Given the description of an element on the screen output the (x, y) to click on. 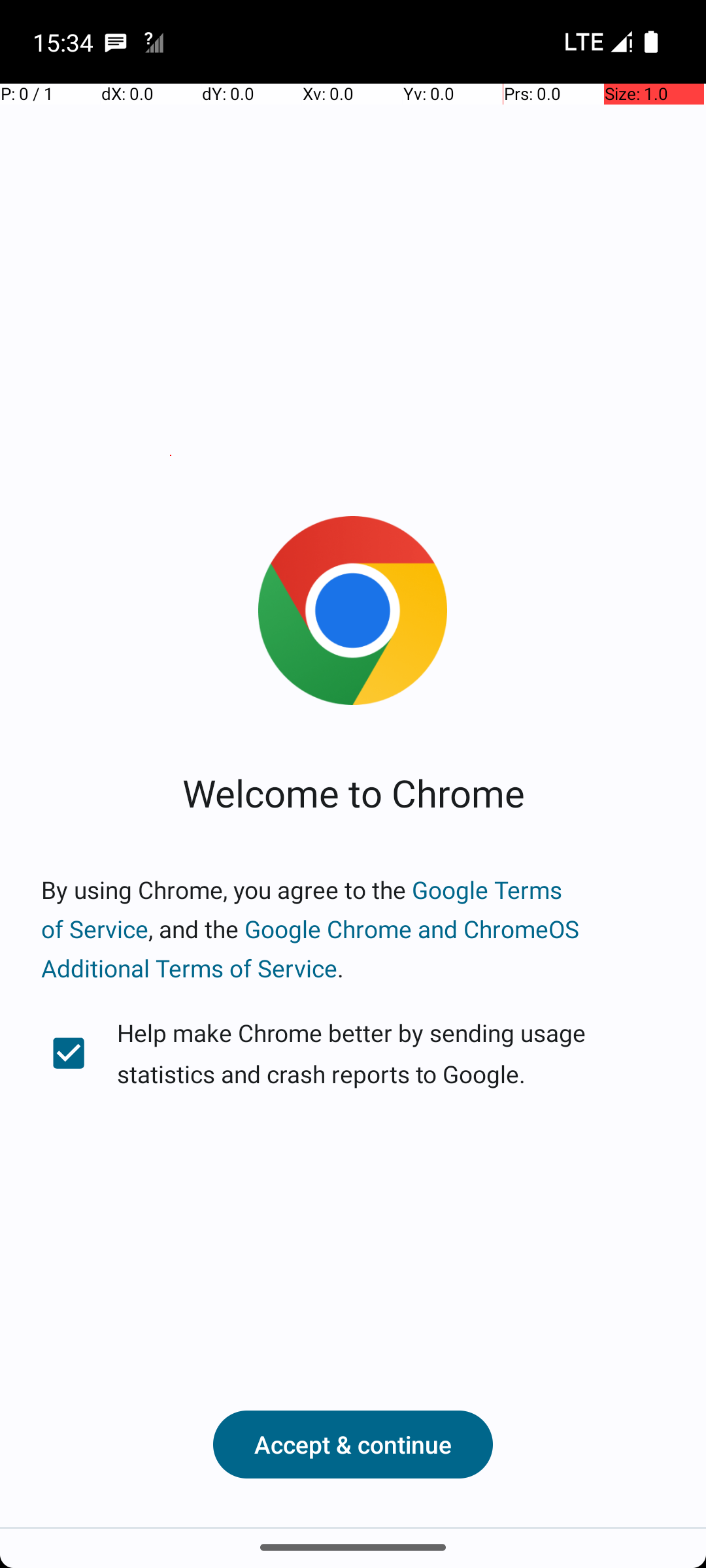
Android System notification: Sign in to network Element type: android.widget.ImageView (153, 41)
